Given the description of an element on the screen output the (x, y) to click on. 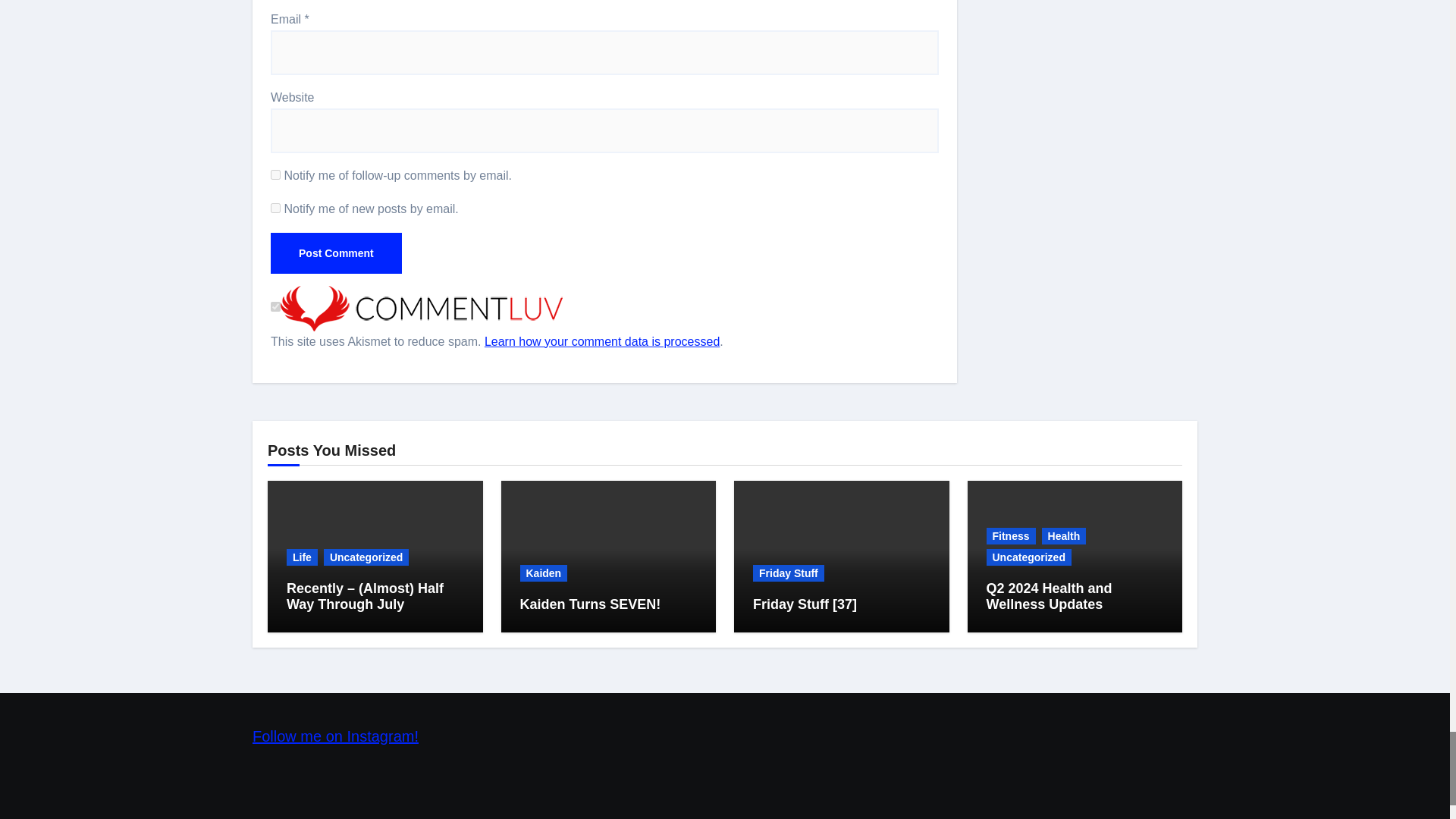
CommentLuv is enabled (421, 307)
subscribe (275, 174)
Post Comment (335, 252)
on (275, 307)
subscribe (275, 207)
